Given the description of an element on the screen output the (x, y) to click on. 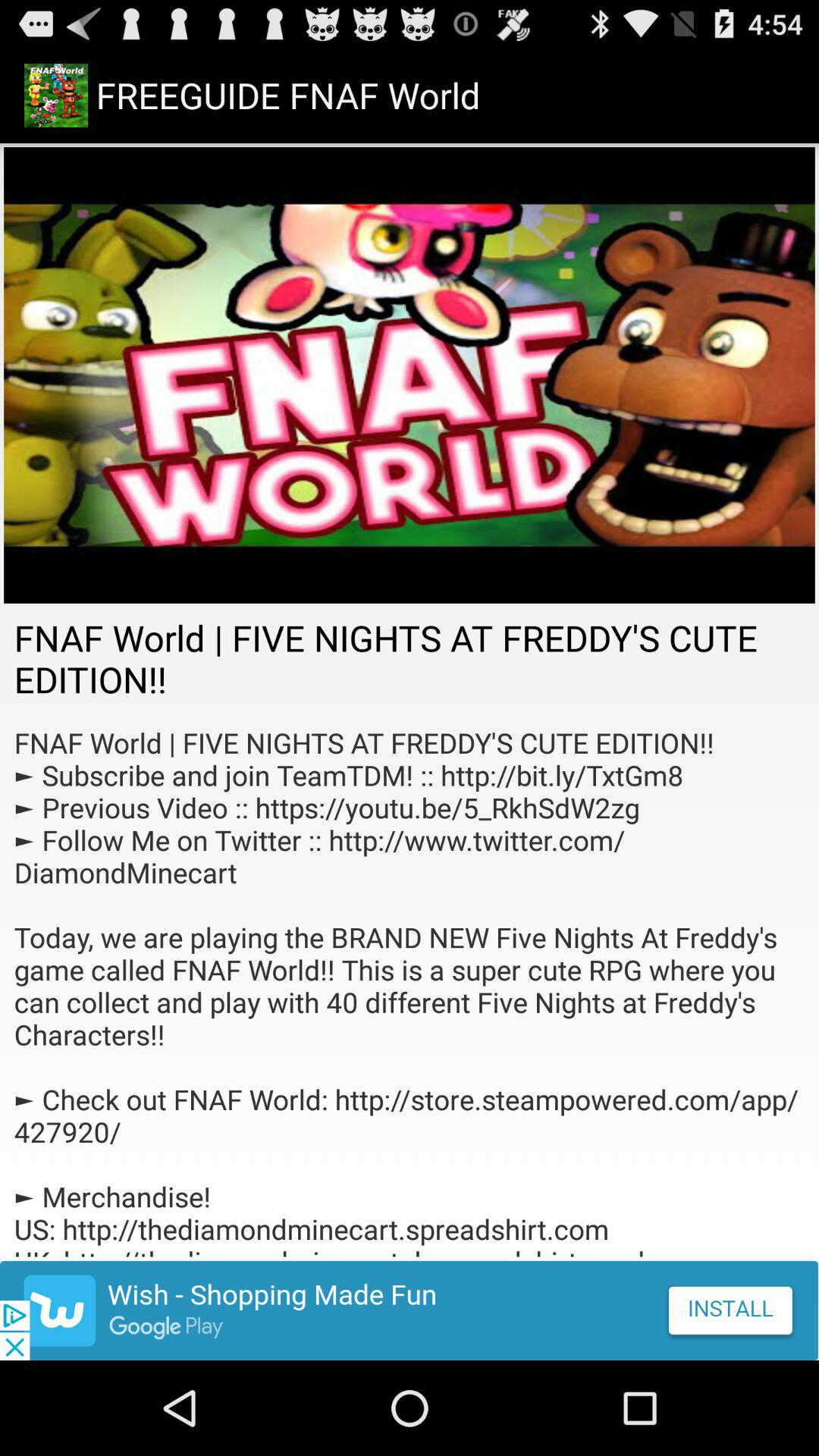
install the app (409, 1310)
